Given the description of an element on the screen output the (x, y) to click on. 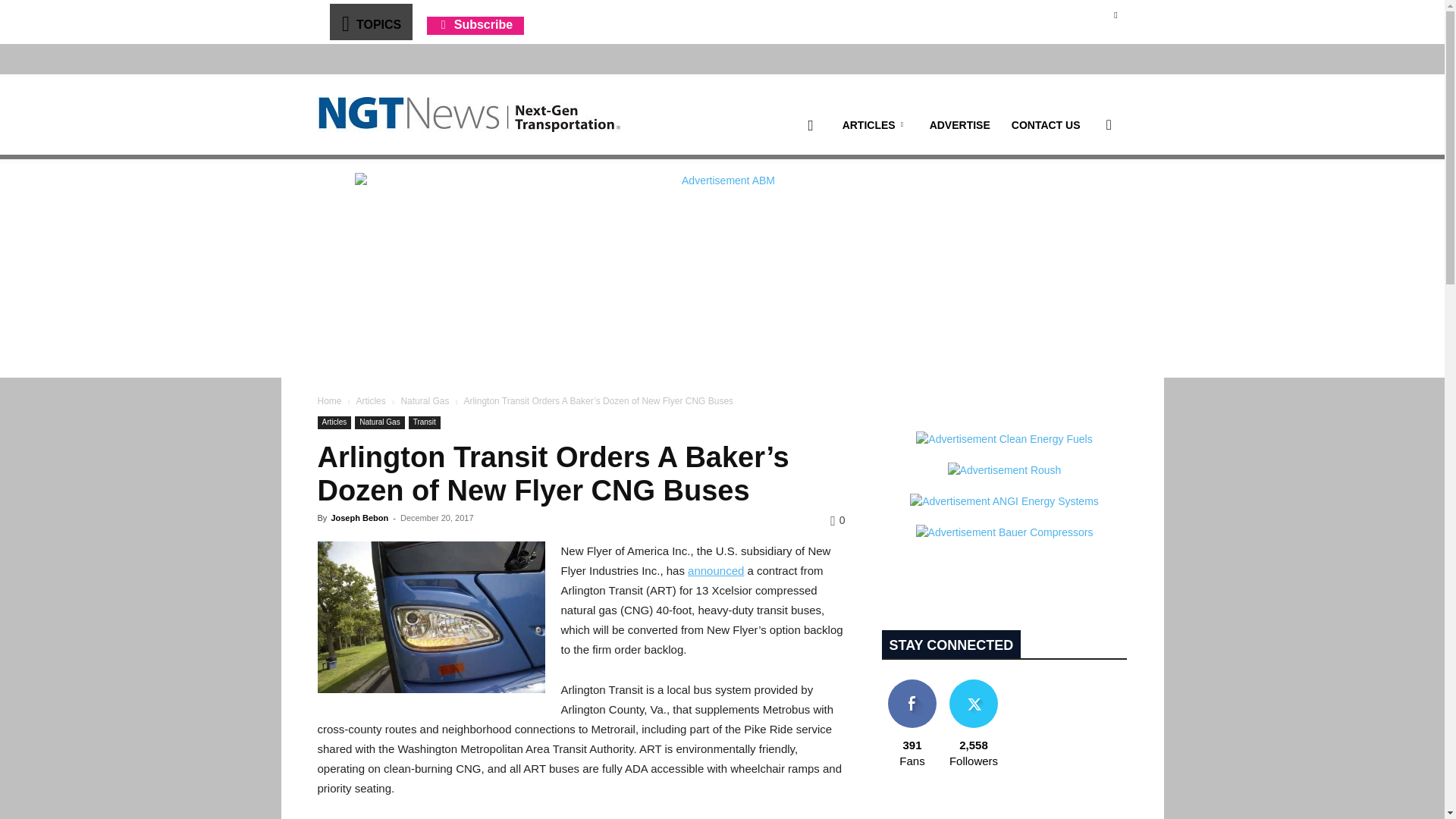
Search (1085, 197)
Subscribe (475, 24)
Twitter (1114, 14)
TOPICS (370, 22)
ARTICLES (874, 124)
NGT News (468, 114)
Alternative Fuel News, CNG News (468, 114)
